Given the description of an element on the screen output the (x, y) to click on. 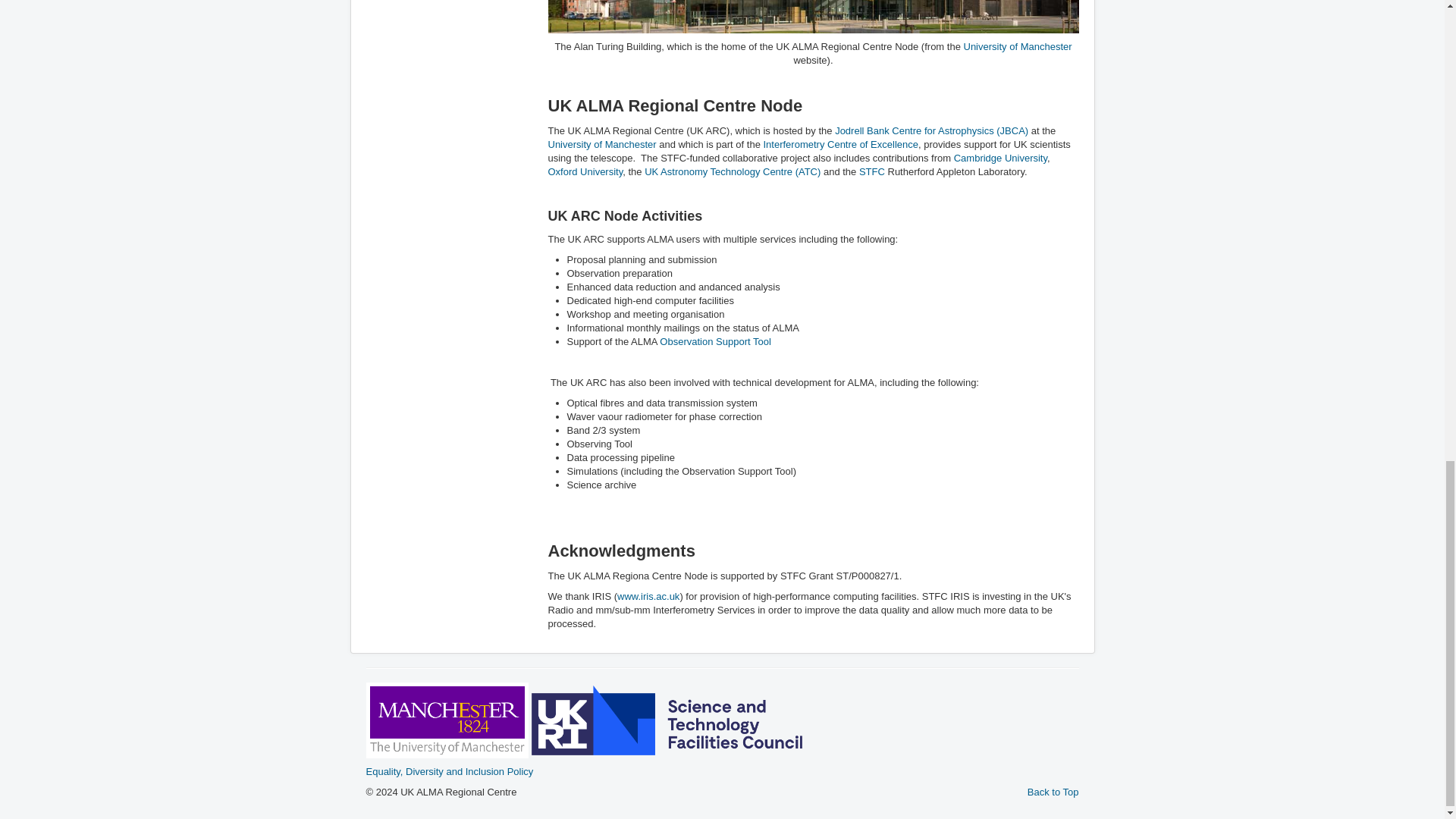
University of Manchester (601, 143)
Interferometry Centre of Excellence (839, 143)
University of Manchester (1016, 46)
Oxford University (585, 171)
Cambridge University (999, 157)
